Given the description of an element on the screen output the (x, y) to click on. 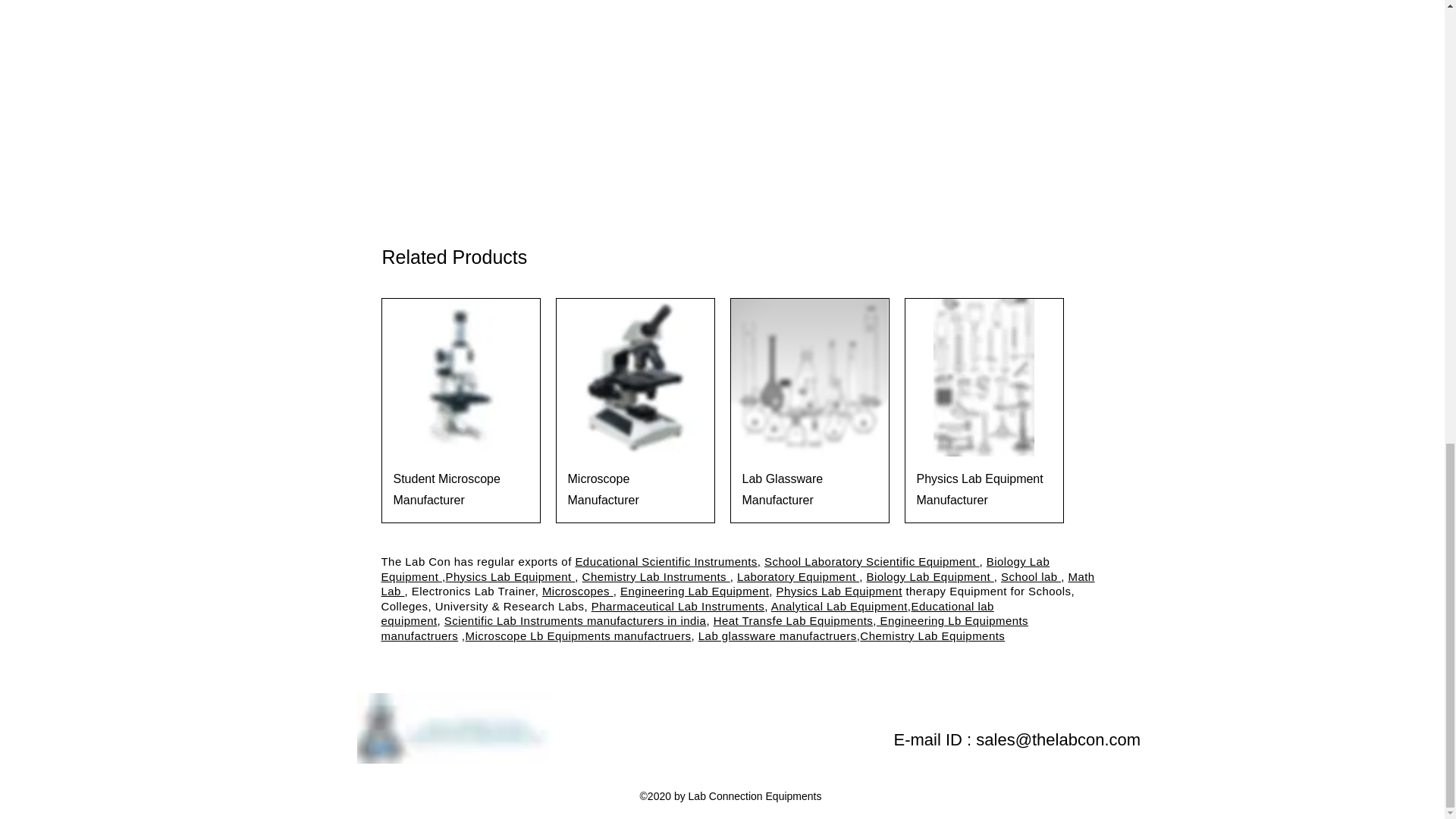
Student Microscope Manufacturer (460, 489)
Physics Lab Equipment Manufacturer (983, 489)
Lab Glassware Manufacturer (808, 489)
Microscope Manufacturer (634, 489)
